Given the description of an element on the screen output the (x, y) to click on. 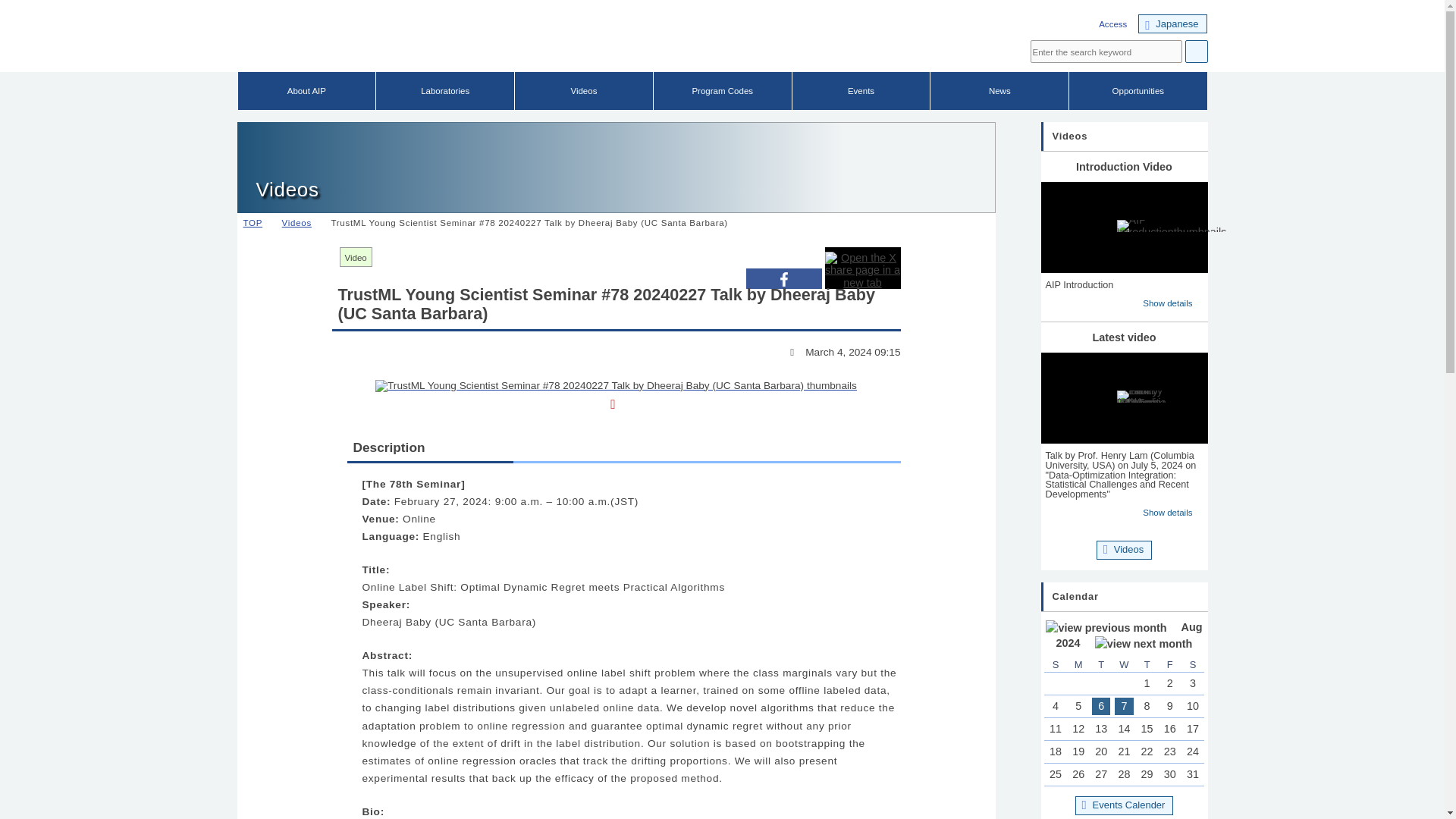
Enter the search keyword (1104, 51)
7 (1123, 705)
Laboratories (444, 90)
All videos (355, 257)
Videos (583, 90)
Events Calender (1124, 805)
Events (861, 90)
About AIP (306, 90)
Videos (299, 222)
News (999, 90)
6 (1100, 705)
Opportunities (1137, 90)
Center for Advanced Intelligence Project (456, 41)
Program Codes (722, 90)
TOP (255, 222)
